Given the description of an element on the screen output the (x, y) to click on. 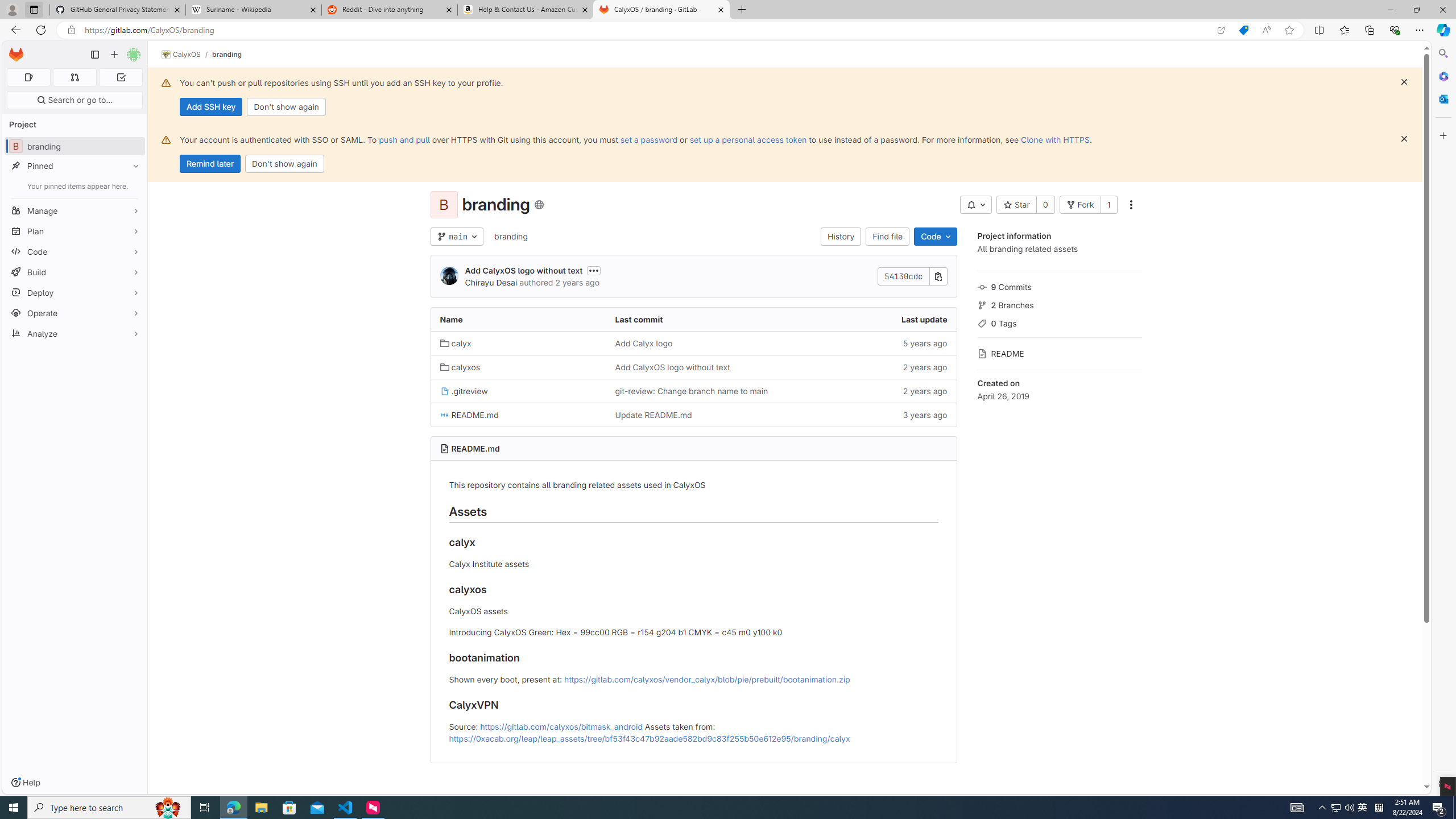
Class: s16 icon (538, 204)
Add SSH key (211, 106)
.gitreview (517, 390)
Analyze (74, 333)
Chirayu Desai's avatar (448, 275)
set a password (649, 139)
Class: s16 position-relative file-icon (444, 414)
Pinned (74, 165)
Manage (74, 210)
Add Calyx logo (693, 342)
Clone with HTTPS (1054, 139)
Add CalyxOS logo without text (693, 366)
